Given the description of an element on the screen output the (x, y) to click on. 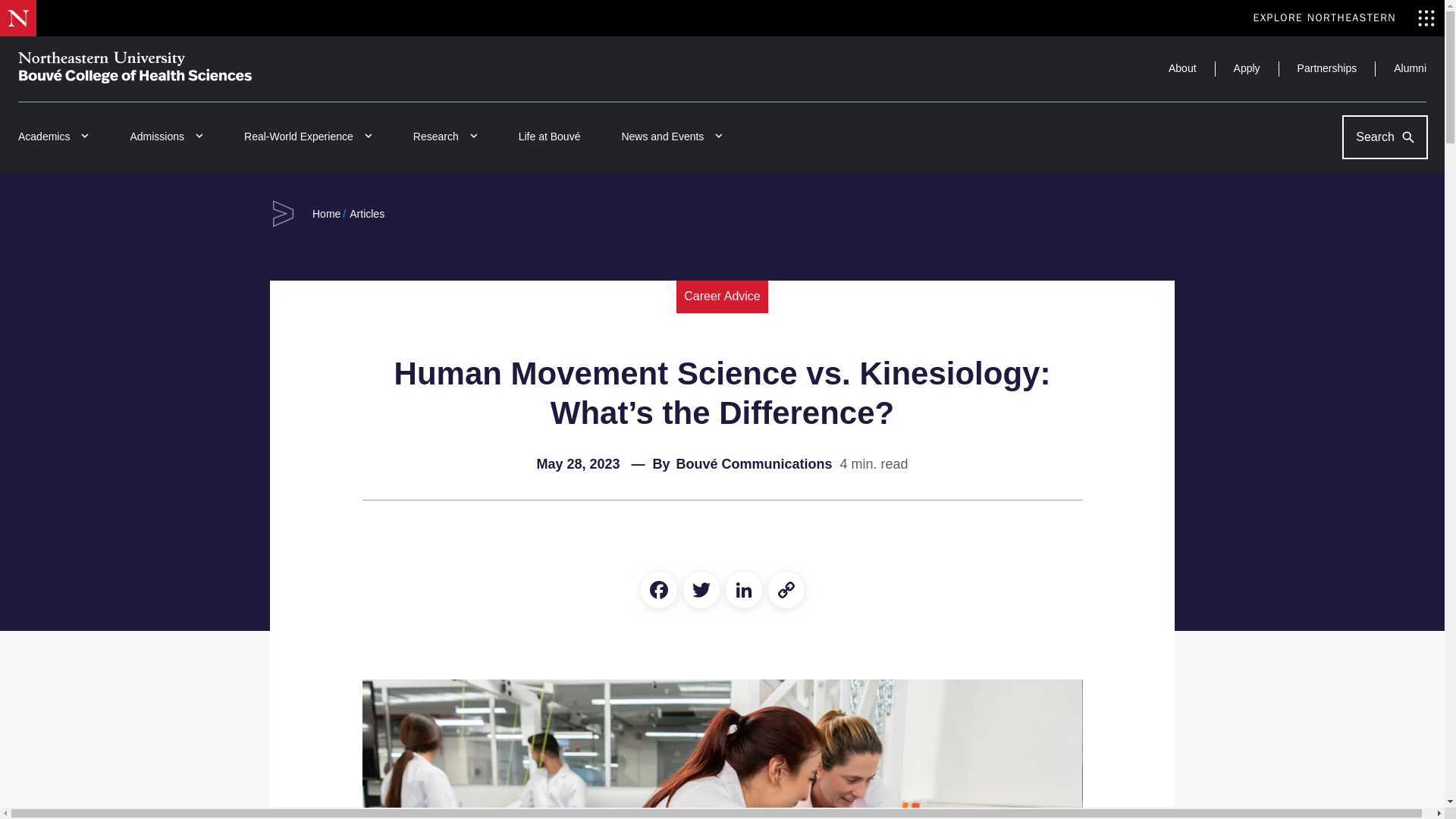
Copy Link (785, 589)
Twitter (700, 589)
LinkedIn (743, 589)
About (1182, 68)
Facebook (658, 589)
Alumni (1409, 68)
Apply (1246, 68)
Partnerships (1326, 68)
EXPLORE NORTHEASTERN (1343, 18)
